Given the description of an element on the screen output the (x, y) to click on. 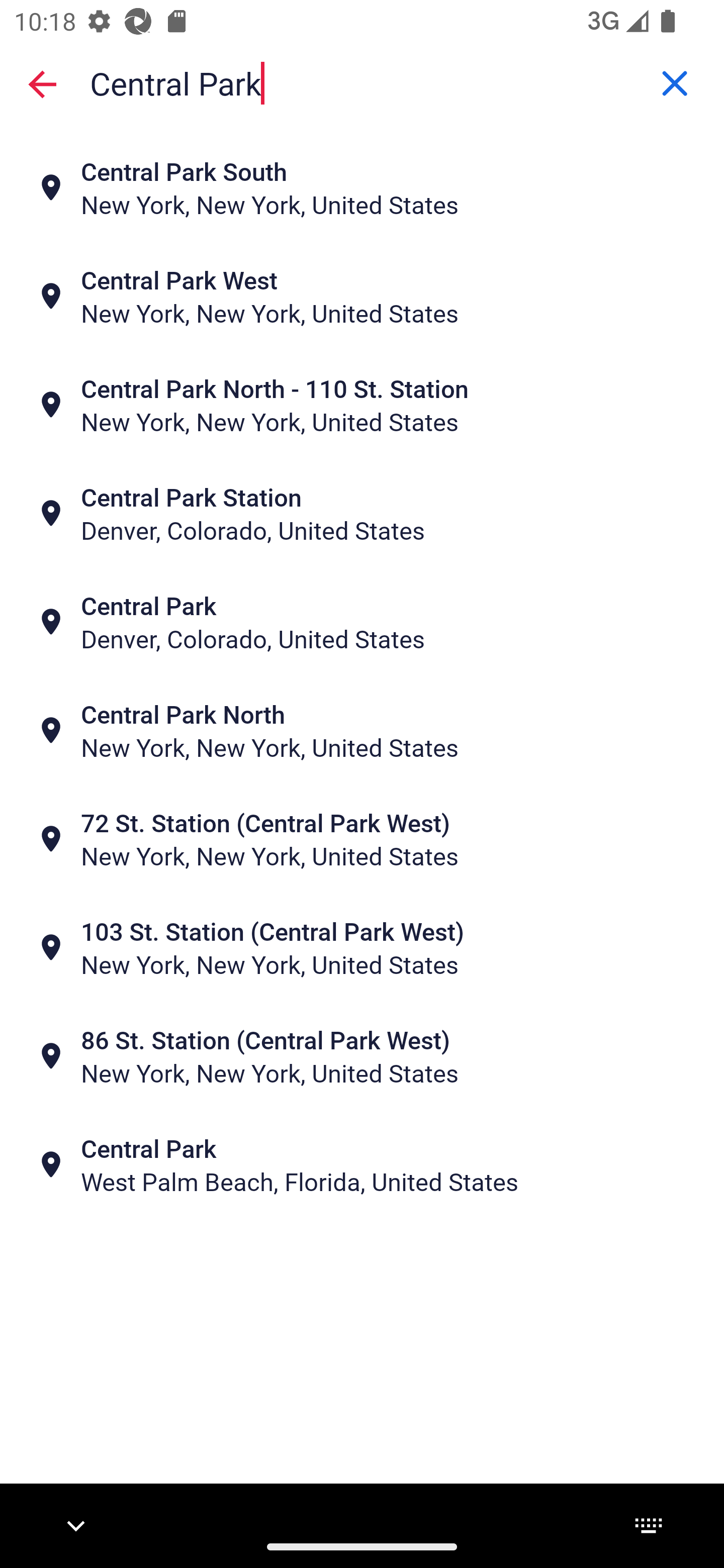
Clear Drop-off (674, 82)
Drop-off, Central Park (361, 82)
Close search screen (41, 83)
